Given the description of an element on the screen output the (x, y) to click on. 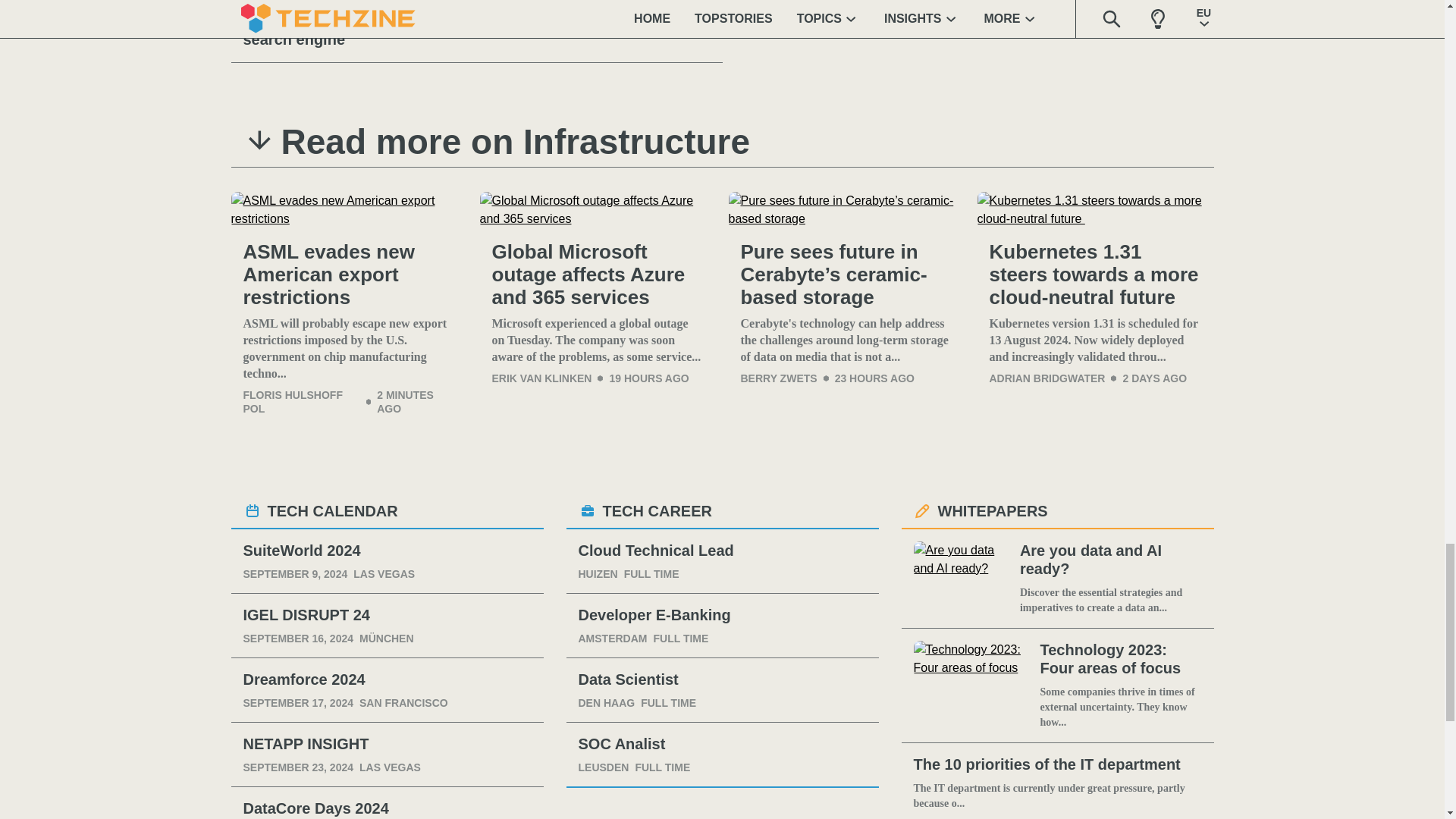
Global Microsoft outage affects Azure and 365 services (597, 209)
Global Microsoft outage affects Azure and 365 services (597, 274)
ASML evades new American export restrictions (348, 209)
ASML evades new American export restrictions (348, 274)
